Given the description of an element on the screen output the (x, y) to click on. 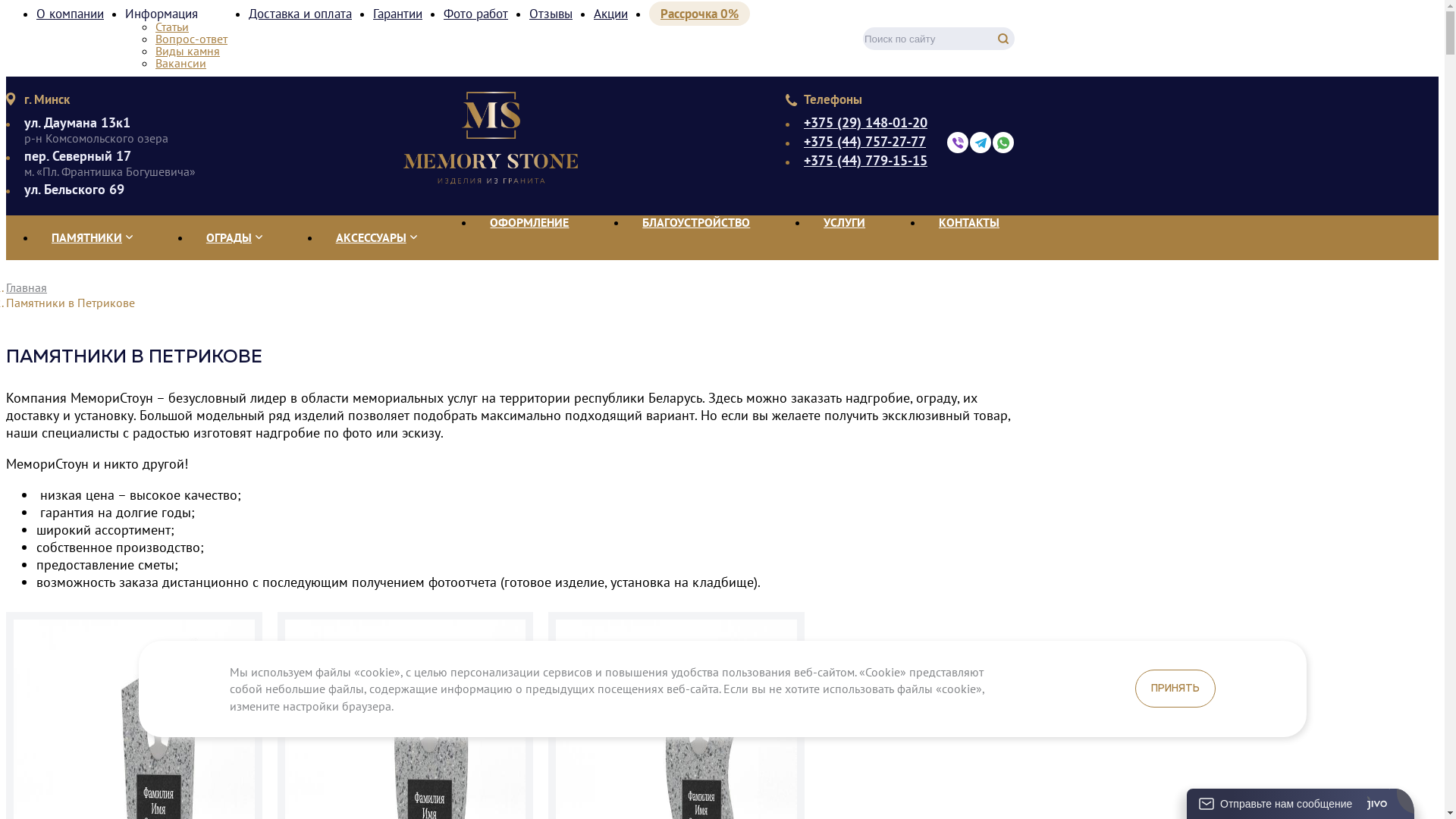
+375 (44) 757-27-77 Element type: text (865, 141)
+375 (29) 148-01-20 Element type: text (865, 122)
+375 (44) 779-15-15 Element type: text (865, 160)
